Given the description of an element on the screen output the (x, y) to click on. 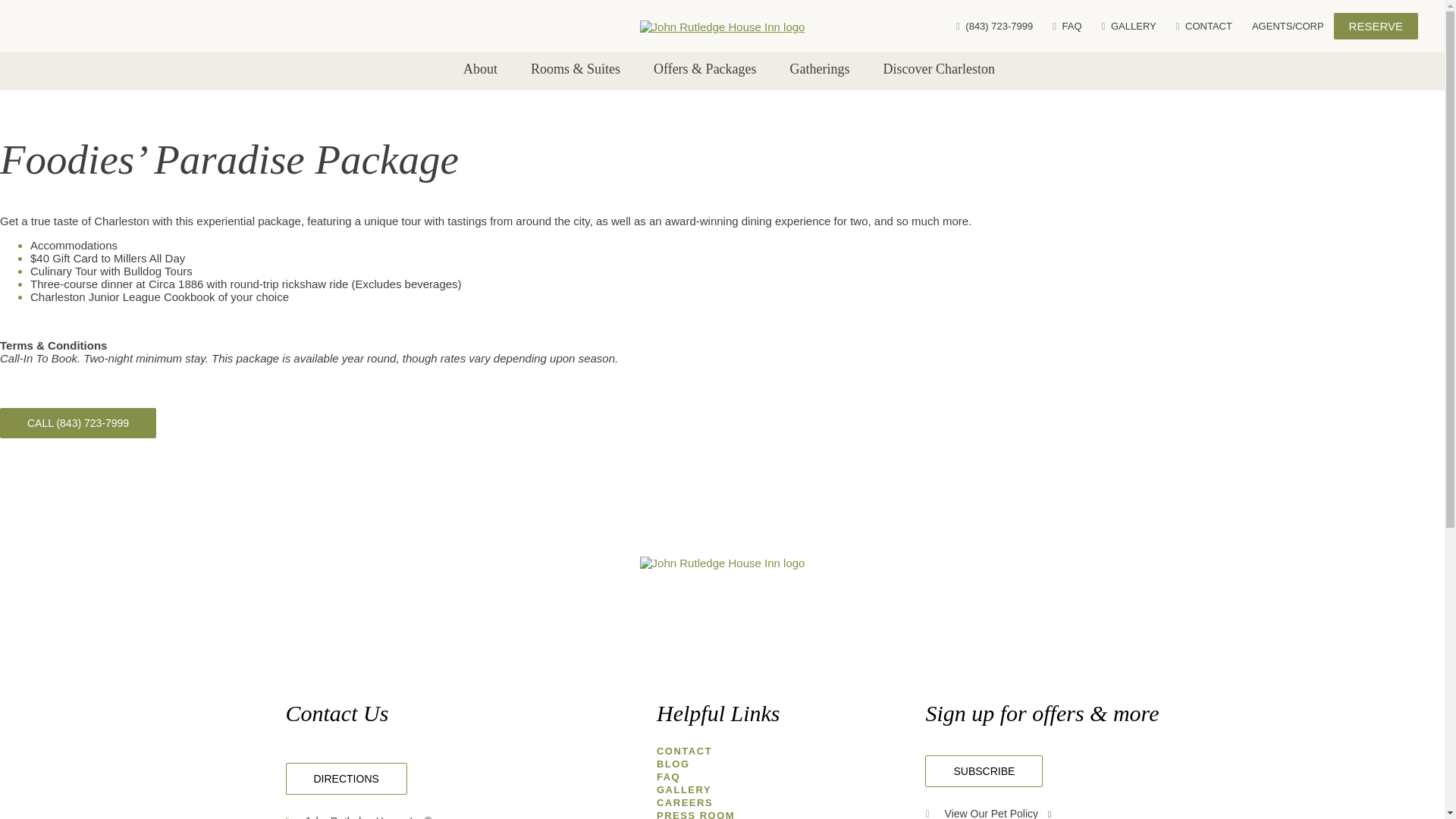
Discover Charleston (938, 69)
About (480, 69)
RESERVE (1375, 26)
CONTACT (1203, 26)
Gatherings (820, 69)
GALLERY (1128, 26)
FAQ (1066, 26)
